Given the description of an element on the screen output the (x, y) to click on. 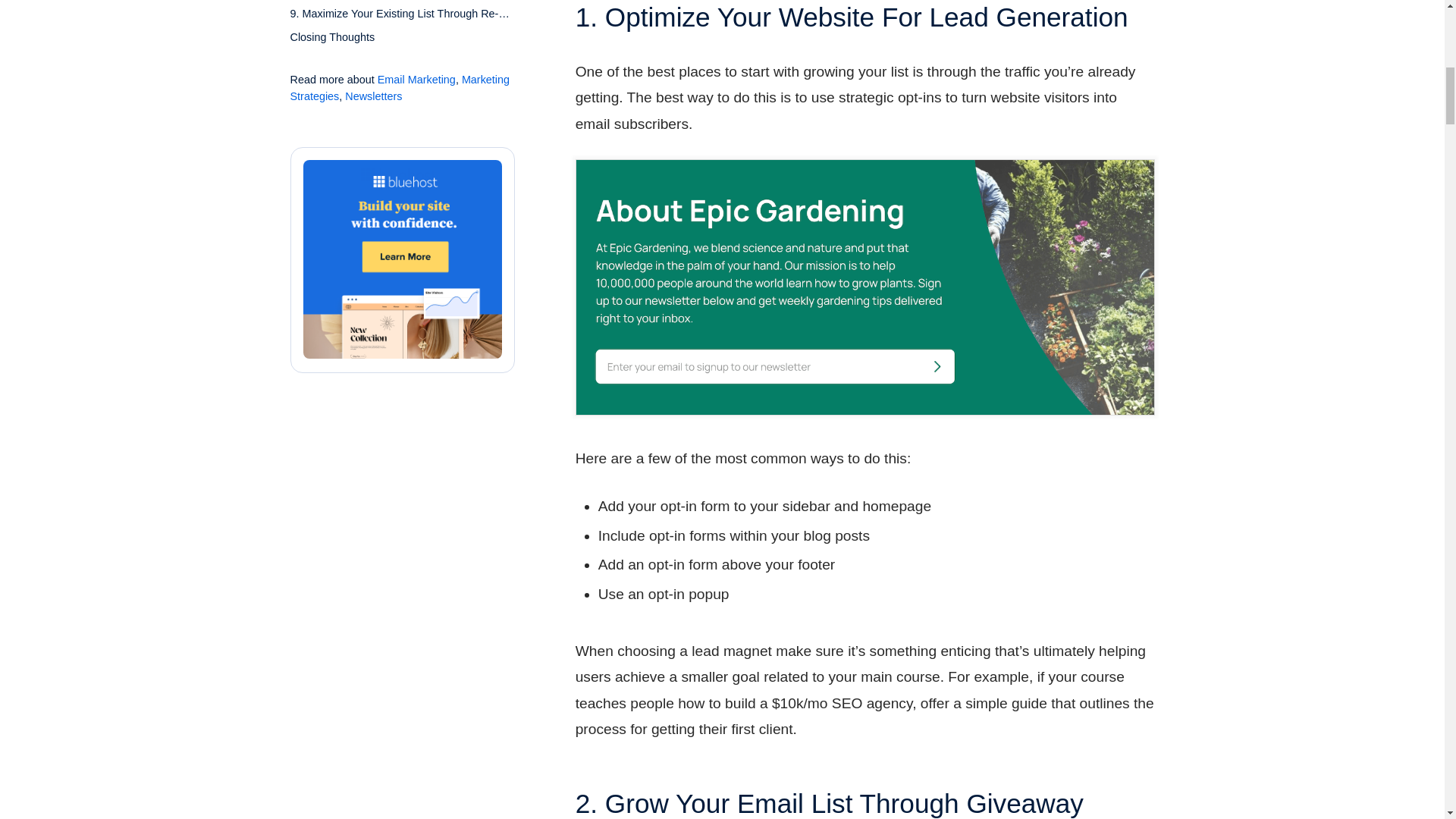
Email Marketing (416, 79)
Marketing Strategies (399, 87)
Newsletters (373, 96)
8. Use Abandonment Emails to Boost Course Sales (401, 2)
Closing Thoughts (331, 41)
